Given the description of an element on the screen output the (x, y) to click on. 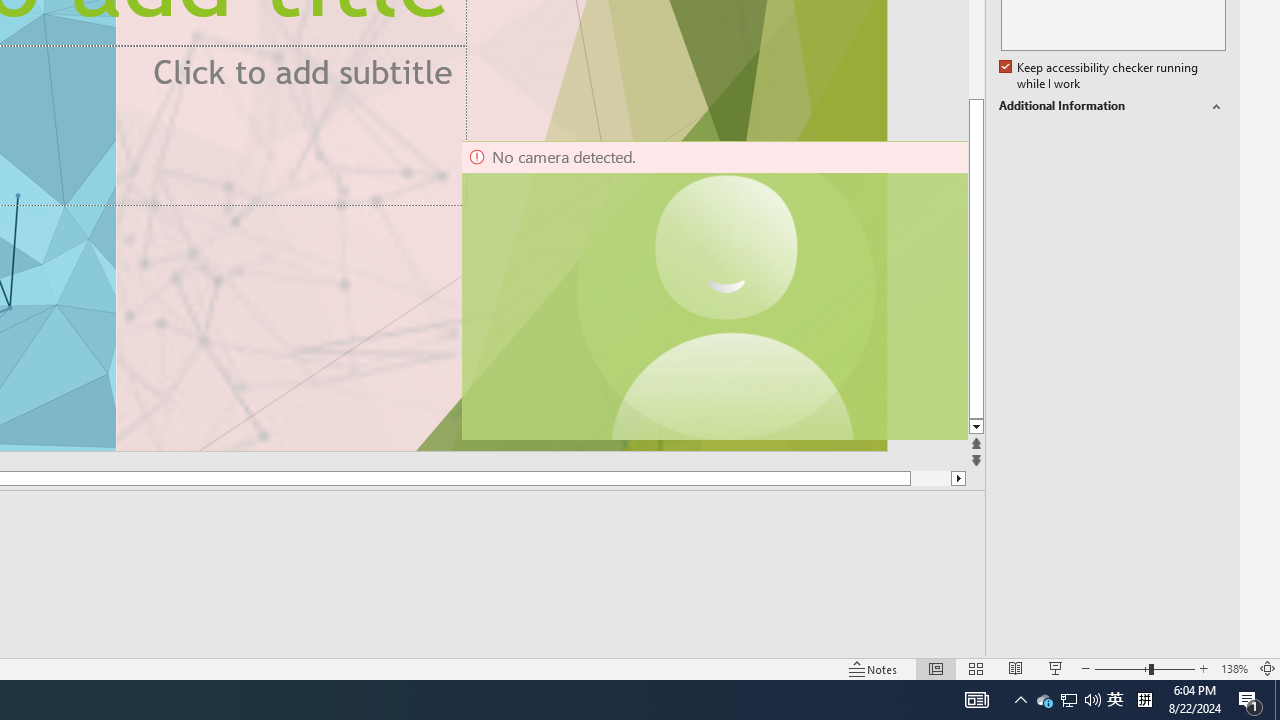
Zoom 138% (1234, 668)
Camera 14, No camera detected. (713, 290)
Camera 11, No camera detected. (727, 290)
